Given the description of an element on the screen output the (x, y) to click on. 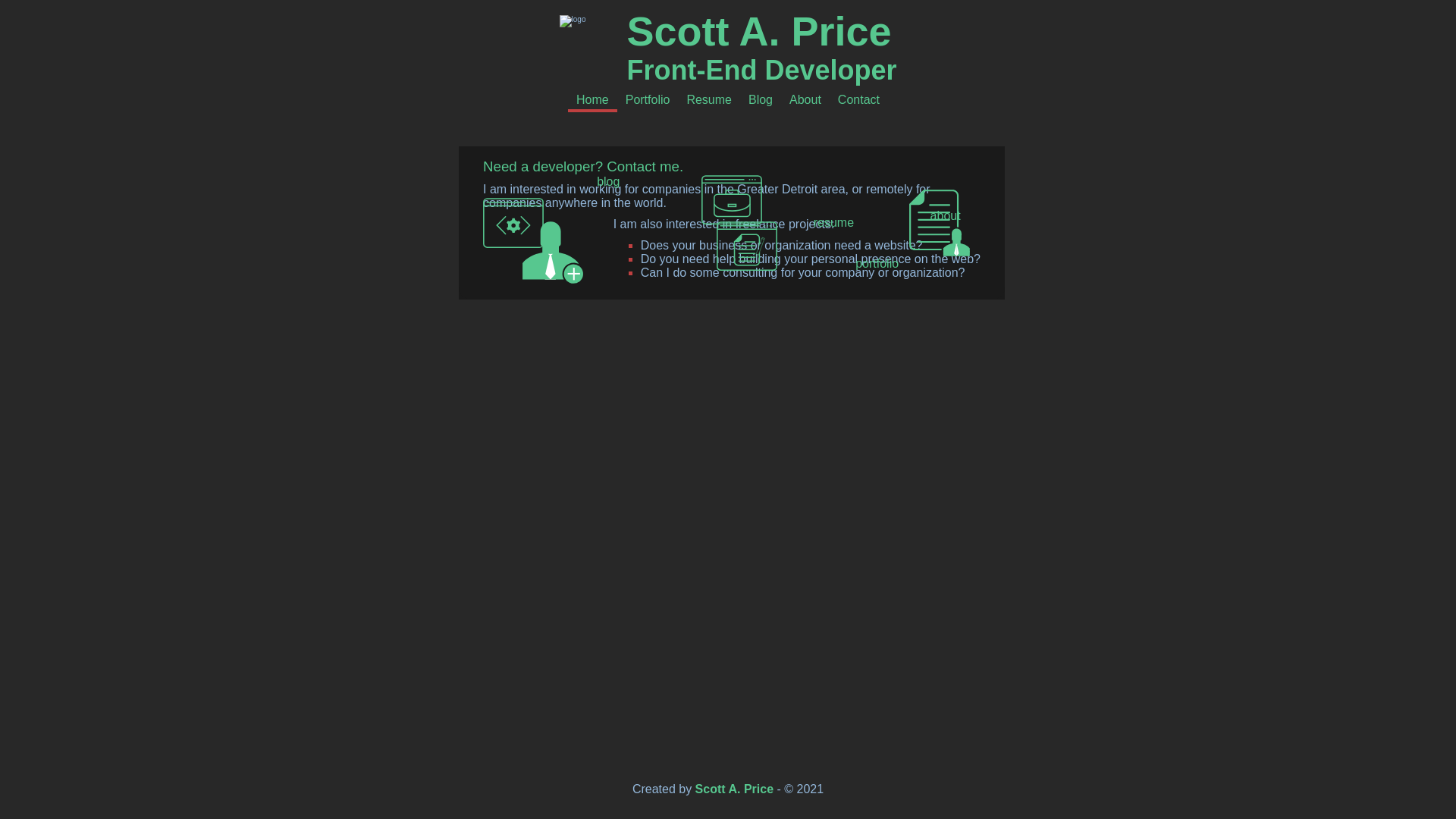
Scott A. Price (758, 31)
Resume (708, 99)
Home (592, 101)
About (804, 99)
Portfolio (647, 99)
Blog (759, 99)
Contact (858, 99)
